Given the description of an element on the screen output the (x, y) to click on. 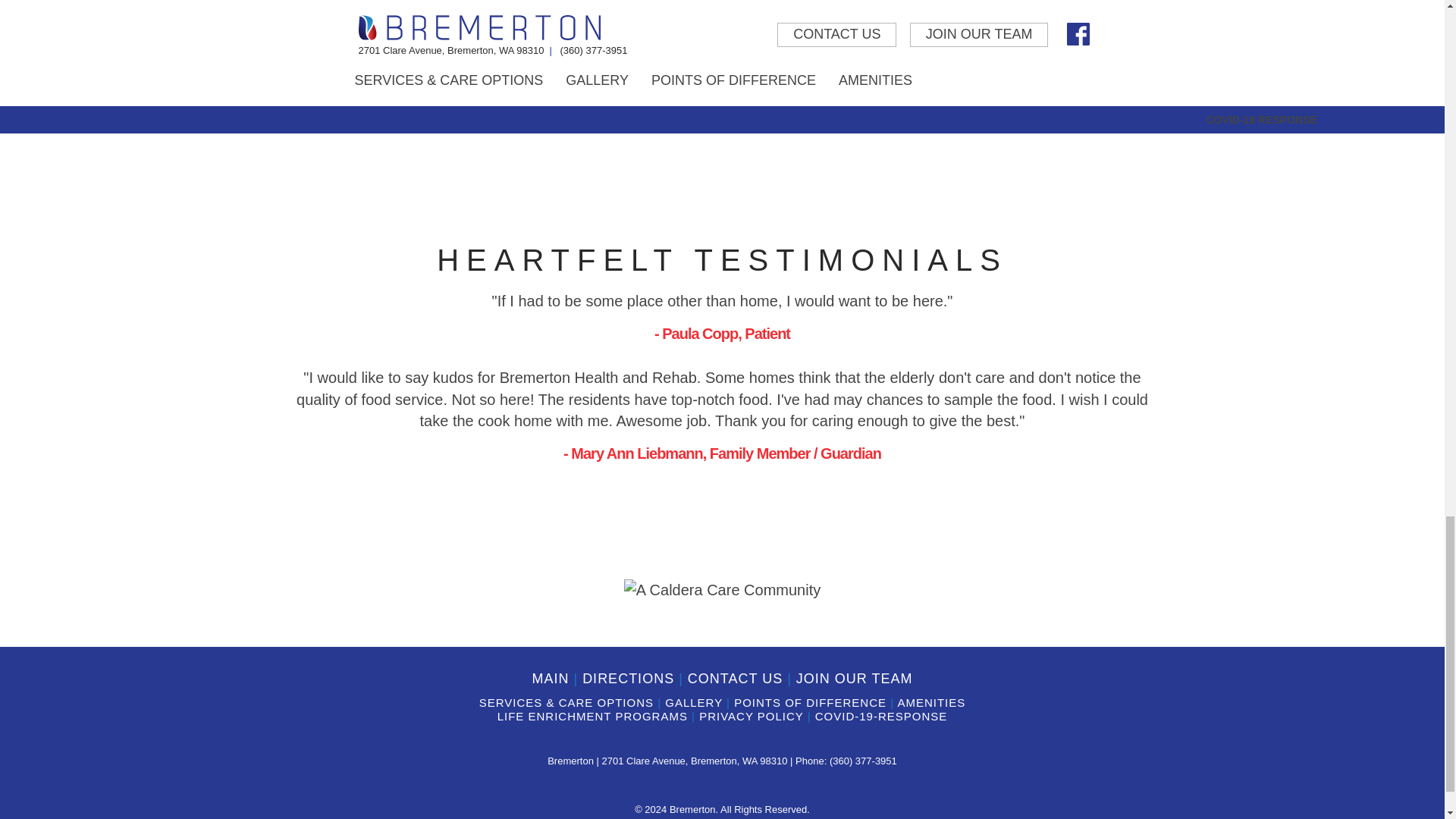
DIRECTIONS (628, 677)
PRIVACY POLICY (750, 716)
LIFE ENRICHMENT PROGRAMS (592, 716)
COVID-19-RESPONSE (881, 716)
POINTS OF DIFFERENCE (809, 702)
GALLERY (693, 702)
JOIN OUR TEAM (854, 677)
CONTACT US (735, 677)
AMENITIES (930, 702)
GET DIRECTIONS TO OUR FACILITY (721, 28)
